Given the description of an element on the screen output the (x, y) to click on. 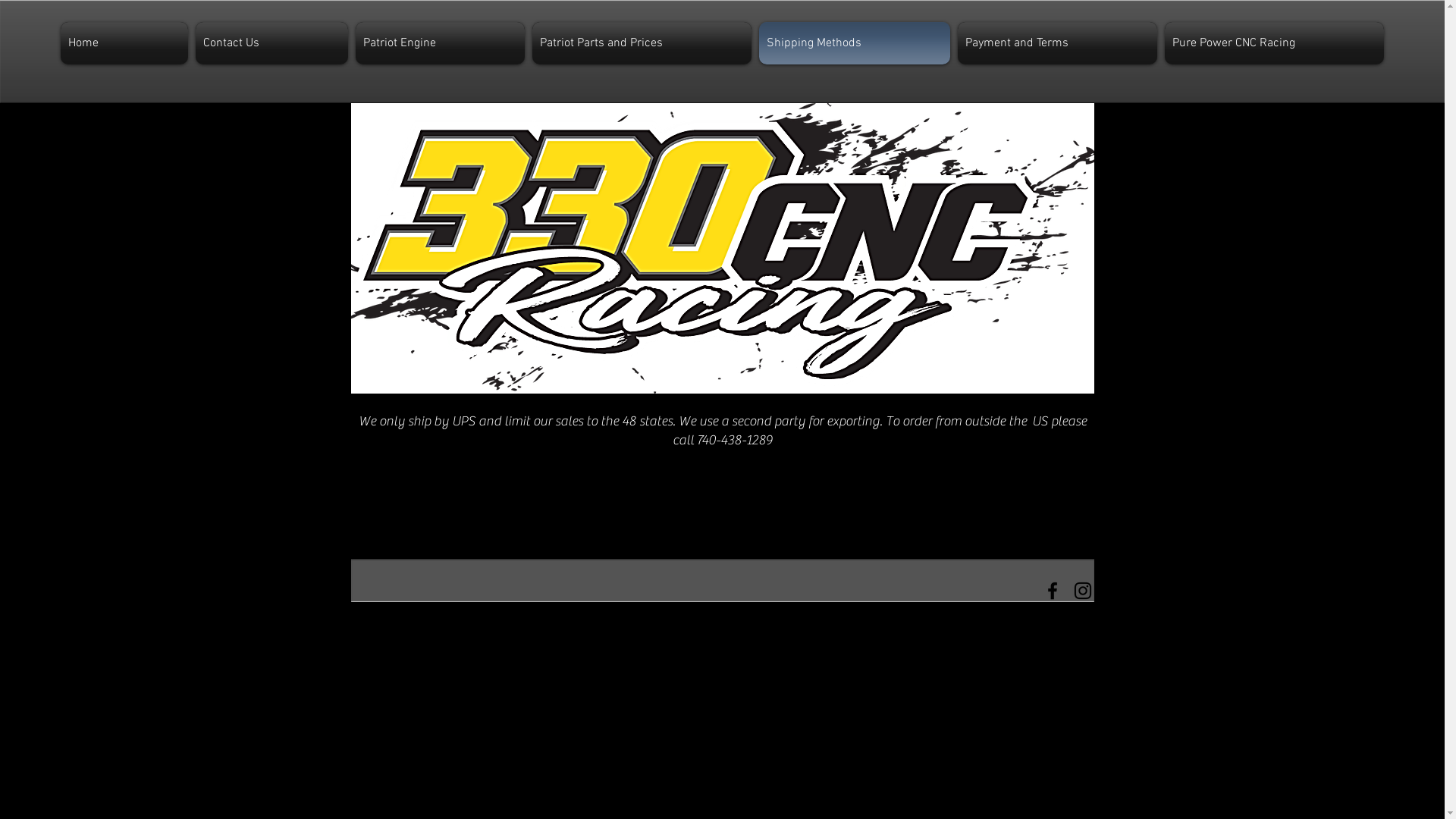
Home Element type: text (125, 42)
Patriot Engine Element type: text (439, 42)
Pure Power CNC Racing Element type: text (1272, 42)
Payment and Terms Element type: text (1057, 42)
Contact Us Element type: text (271, 42)
Patriot Parts and Prices Element type: text (641, 42)
Shipping Methods Element type: text (854, 42)
